Given the description of an element on the screen output the (x, y) to click on. 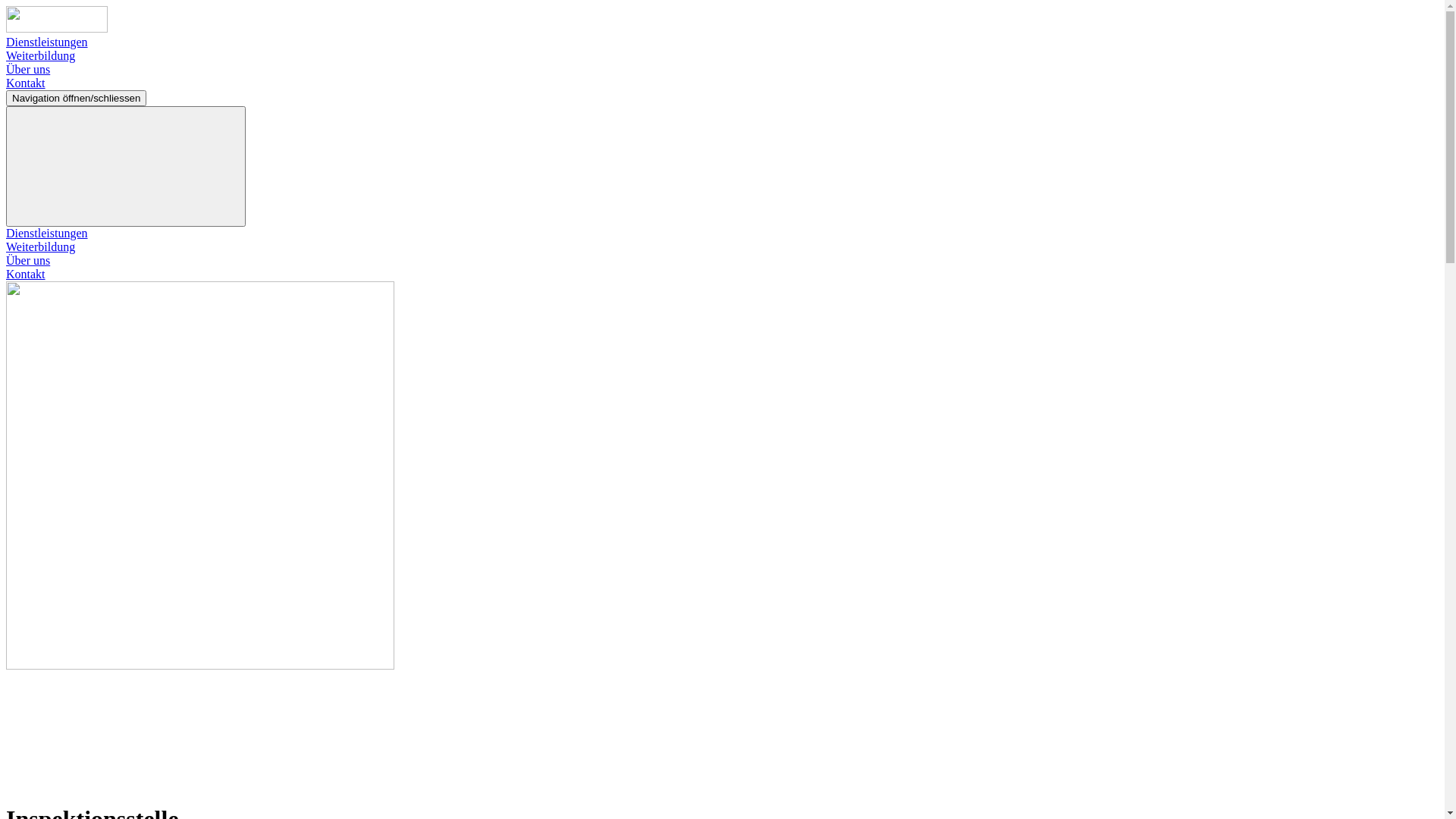
Weiterbildung Element type: text (40, 246)
Kontakt Element type: text (25, 273)
Dienstleistungen Element type: text (46, 232)
Weiterbildung Element type: text (40, 55)
Dienstleistungen Element type: text (46, 41)
Kontakt Element type: text (25, 82)
